Given the description of an element on the screen output the (x, y) to click on. 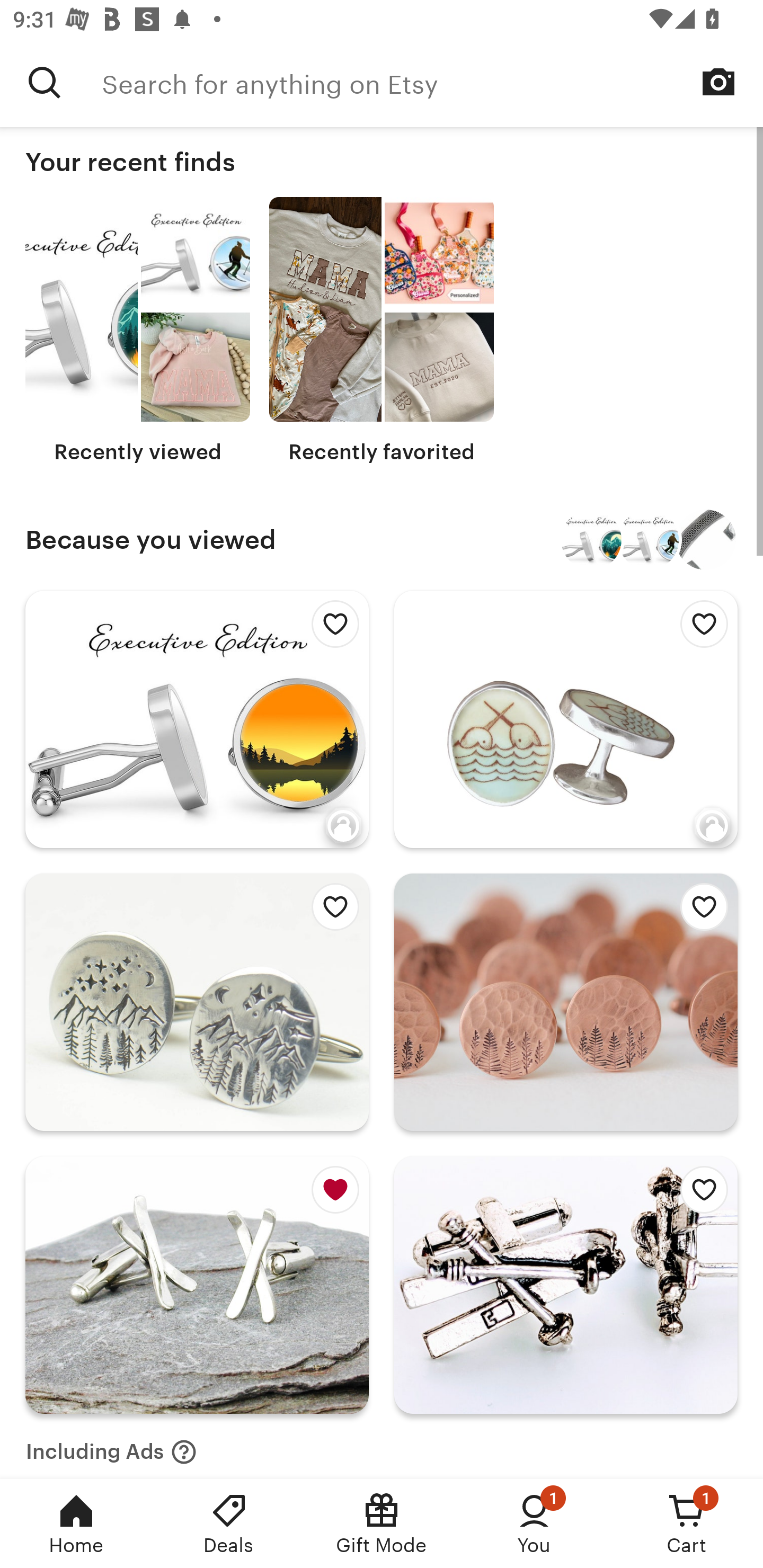
Search for anything on Etsy (44, 82)
Search by image (718, 81)
Search for anything on Etsy (432, 82)
Recently viewed (137, 330)
Recently favorited (381, 330)
Ski Cuff Links Add Ski Cuff Links to favorites (565, 1285)
Add Ski Cuff Links to favorites (699, 1194)
Including Ads (111, 1446)
Deals (228, 1523)
Gift Mode (381, 1523)
You, 1 new notification You (533, 1523)
Cart, 1 new notification Cart (686, 1523)
